Given the description of an element on the screen output the (x, y) to click on. 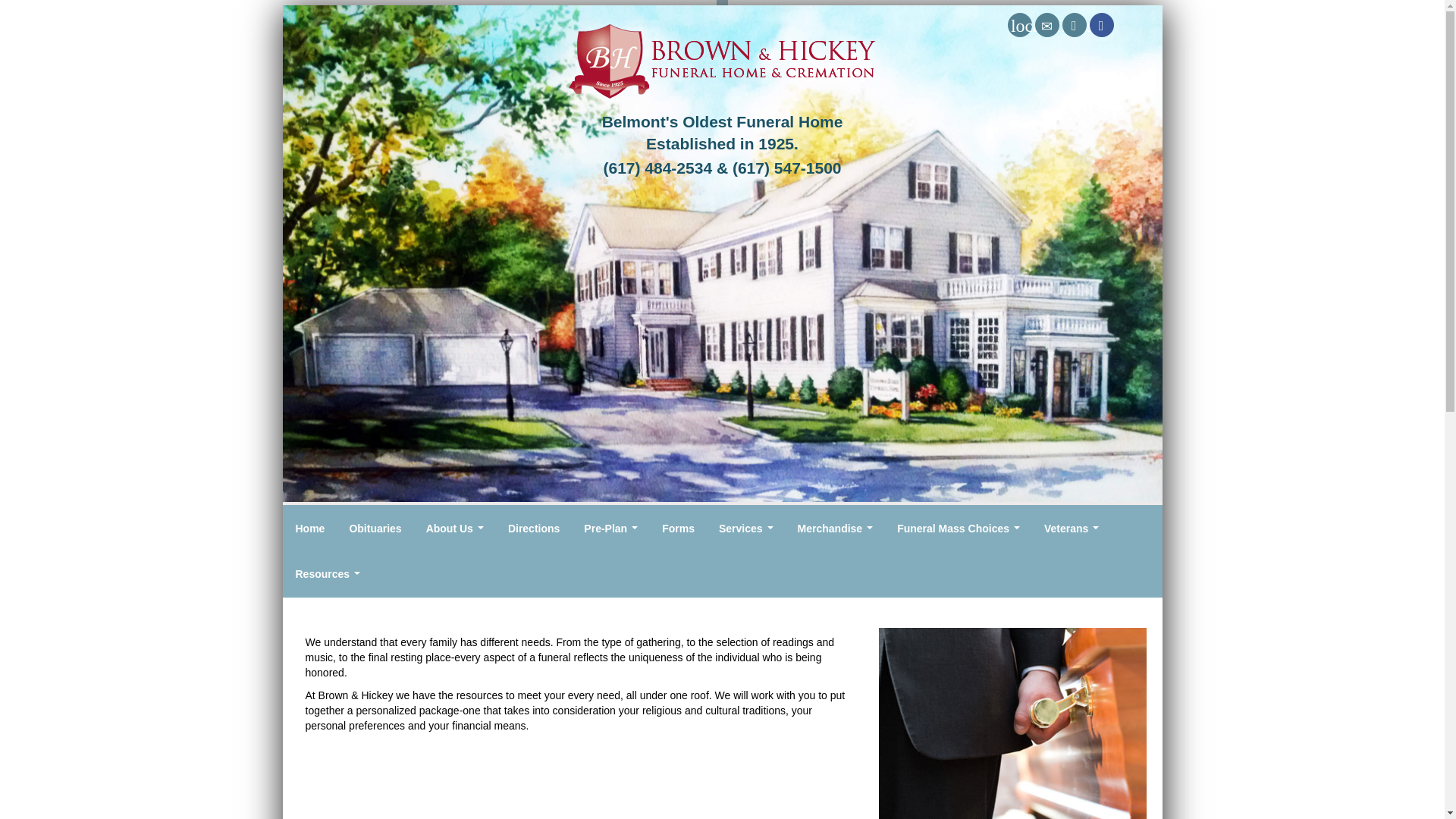
Contact Us (1047, 24)
Services... (746, 528)
Funeral Mass Choices... (958, 528)
Merchandise... (835, 528)
Directions (534, 528)
Resources... (327, 574)
Home (310, 528)
Forms (677, 528)
Directions (1074, 24)
Obituaries (374, 528)
About Us... (454, 528)
Pre-Plan... (610, 528)
Veterans... (1071, 528)
Send Flowers (1019, 24)
